Given the description of an element on the screen output the (x, y) to click on. 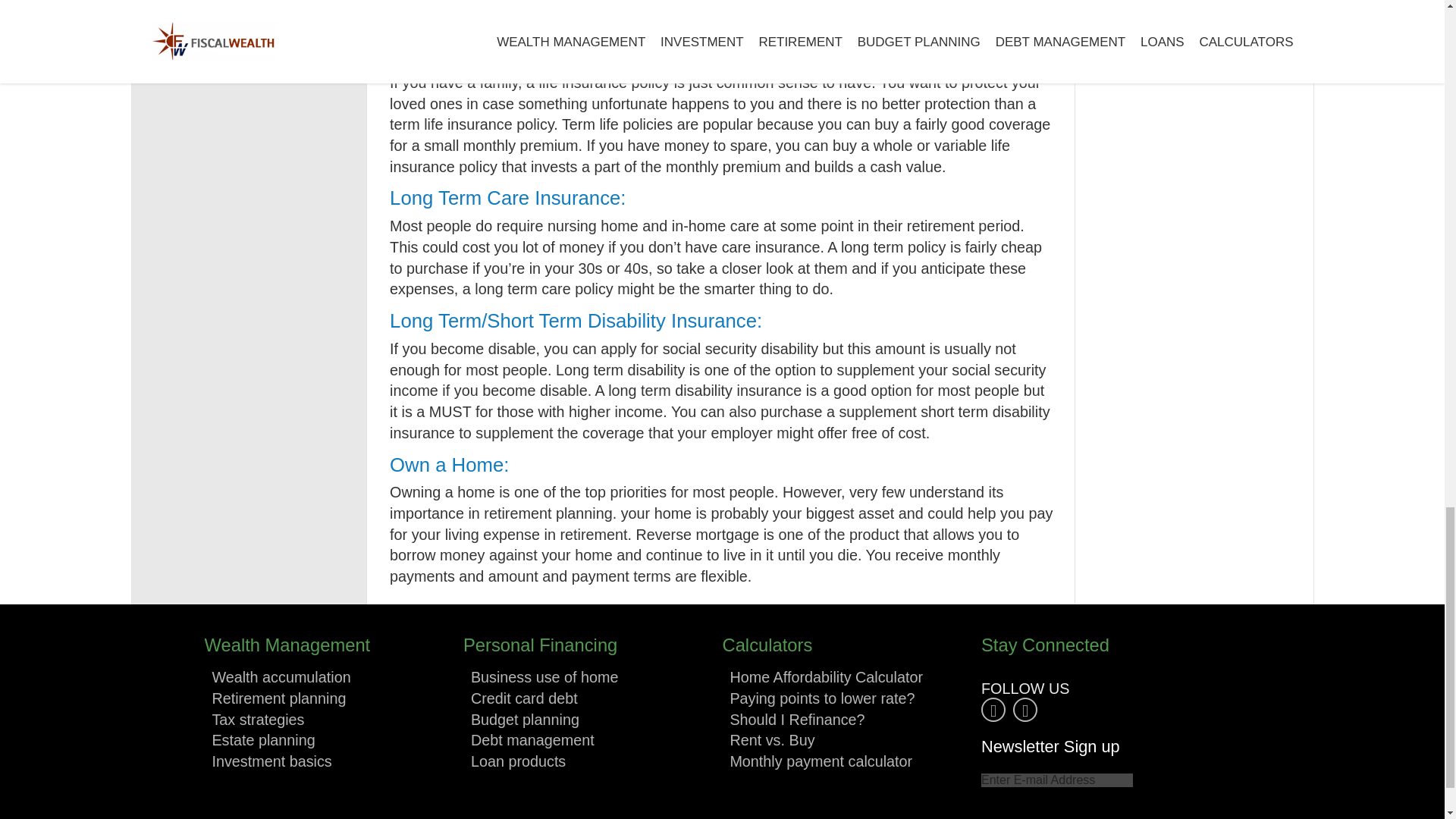
Enter E-mail Address (1056, 780)
